Given the description of an element on the screen output the (x, y) to click on. 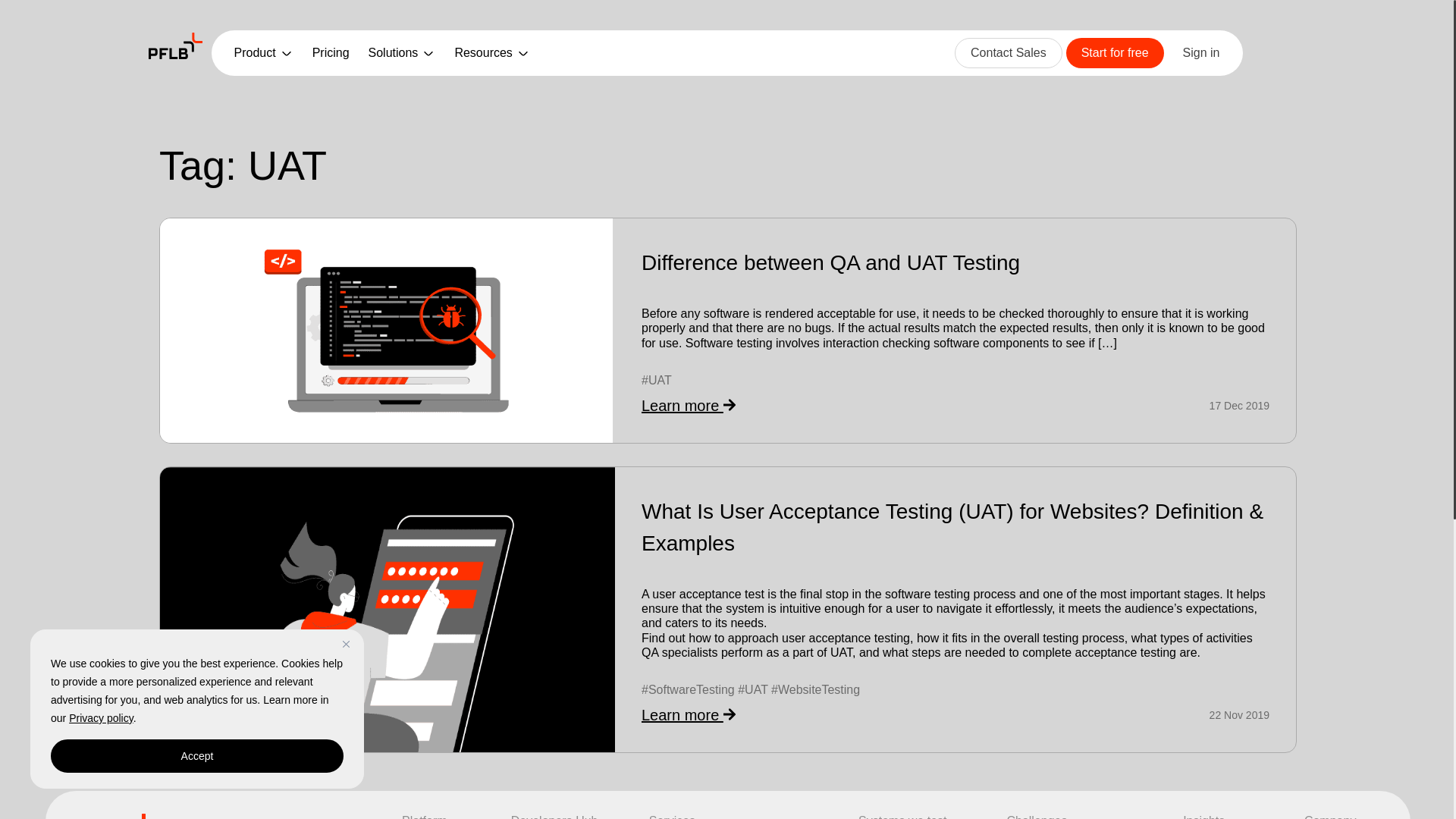
UAT Tag (656, 379)
Accept (196, 756)
Privacy policy (100, 717)
WebsiteTesting Tag (815, 689)
Resources (491, 53)
Solutions (401, 53)
Product (262, 53)
SoftwareTesting Tag (688, 689)
UAT Tag (752, 689)
Pricing (331, 53)
